Given the description of an element on the screen output the (x, y) to click on. 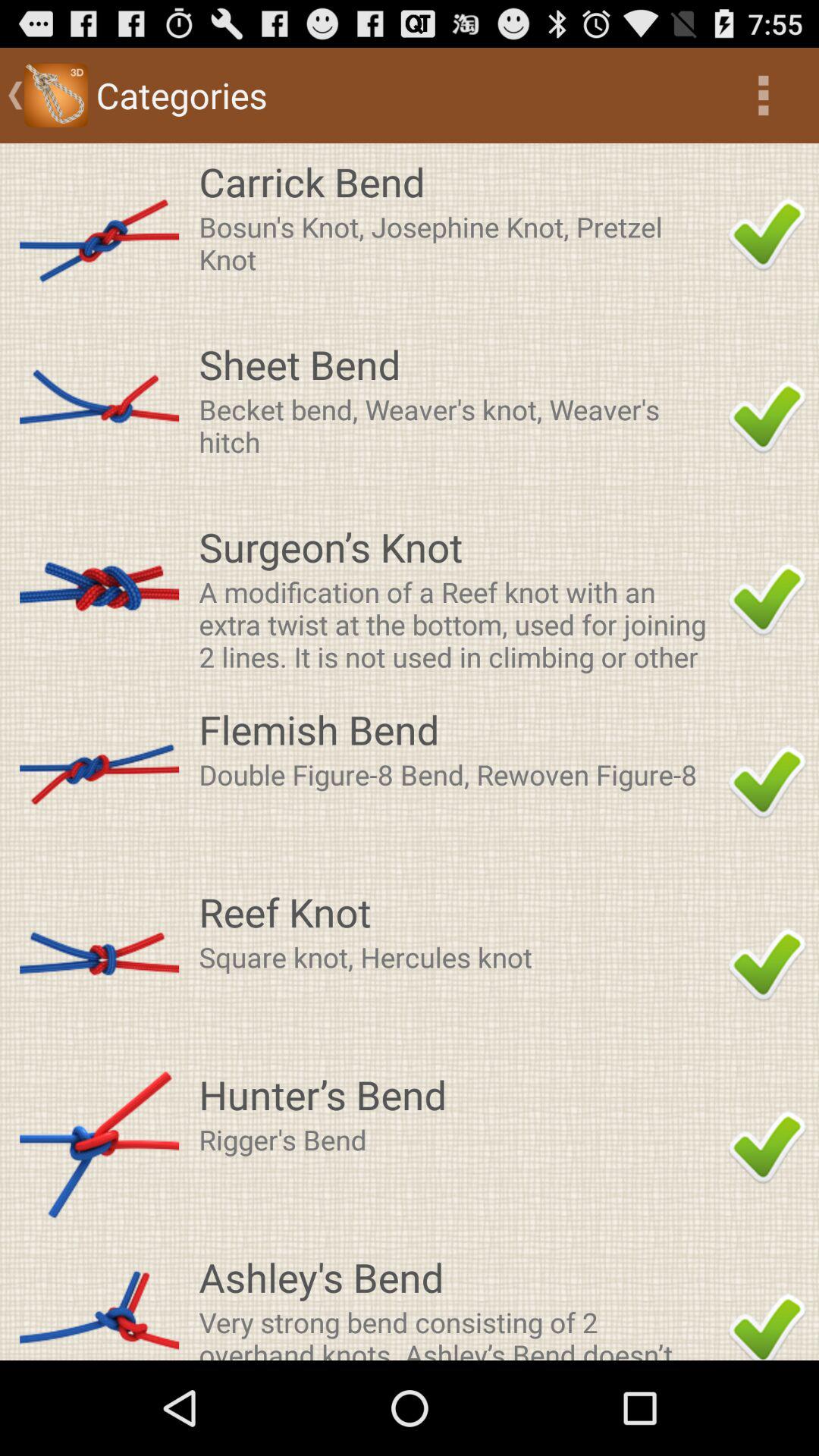
press item below carrick bend icon (459, 243)
